Given the description of an element on the screen output the (x, y) to click on. 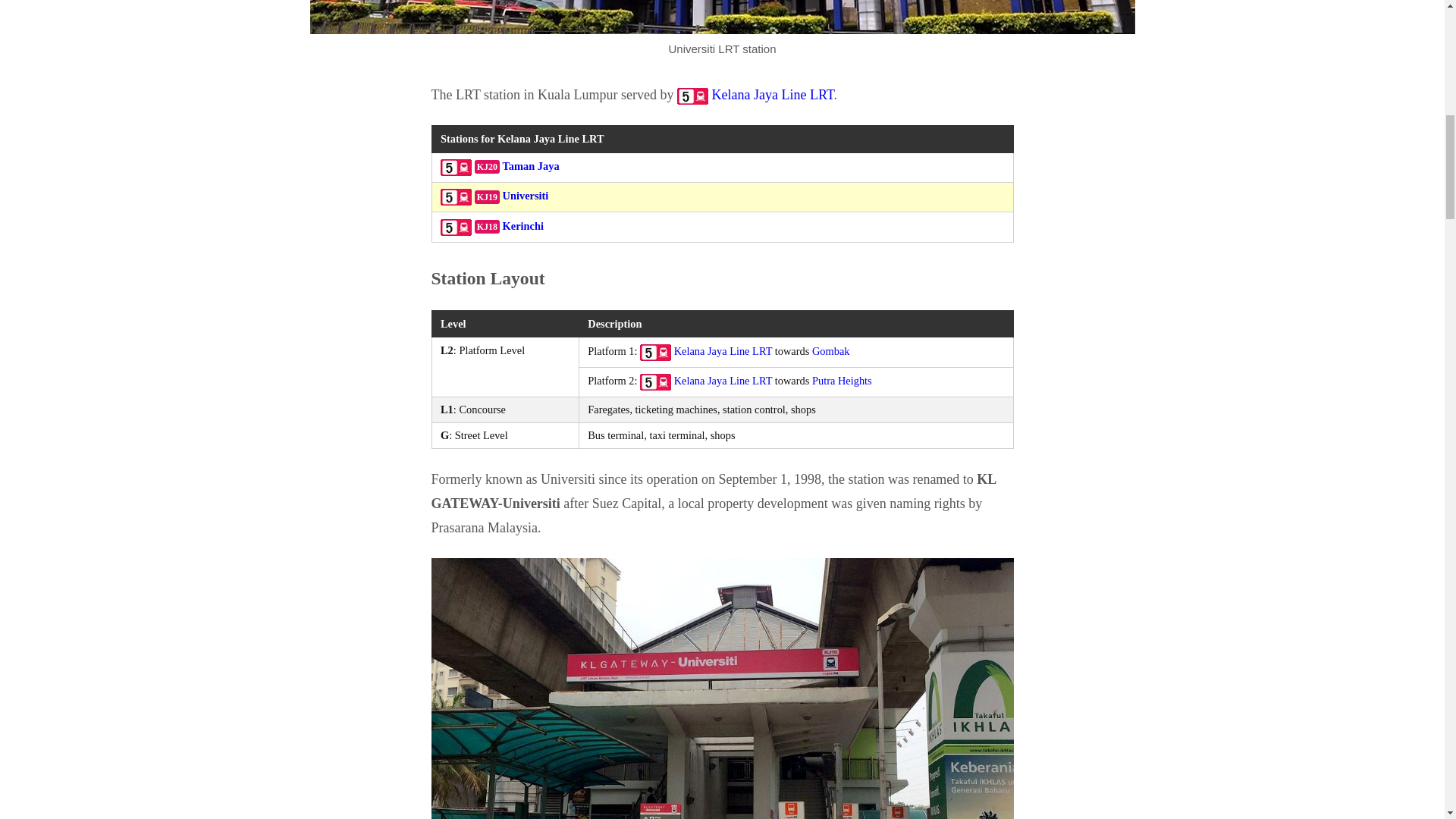
Universiti (525, 195)
Kelana Jaya Line LRT (723, 350)
Kerinchi (522, 225)
Kelana Jaya Line LRT (723, 380)
Kelana Jaya Line LRT (456, 165)
Kelana Jaya Line LRT (723, 350)
Kelana Jaya Line LRT (772, 94)
Kelana Jaya Line LRT (456, 195)
Putra Heights (842, 380)
Gombak (831, 350)
Kerinchi LRT station (522, 225)
Kelana Jaya Line LRT (723, 380)
Universiti LRT station (525, 195)
Taman Jaya LRT station (530, 165)
Kelana Jaya Line LRT (456, 225)
